Given the description of an element on the screen output the (x, y) to click on. 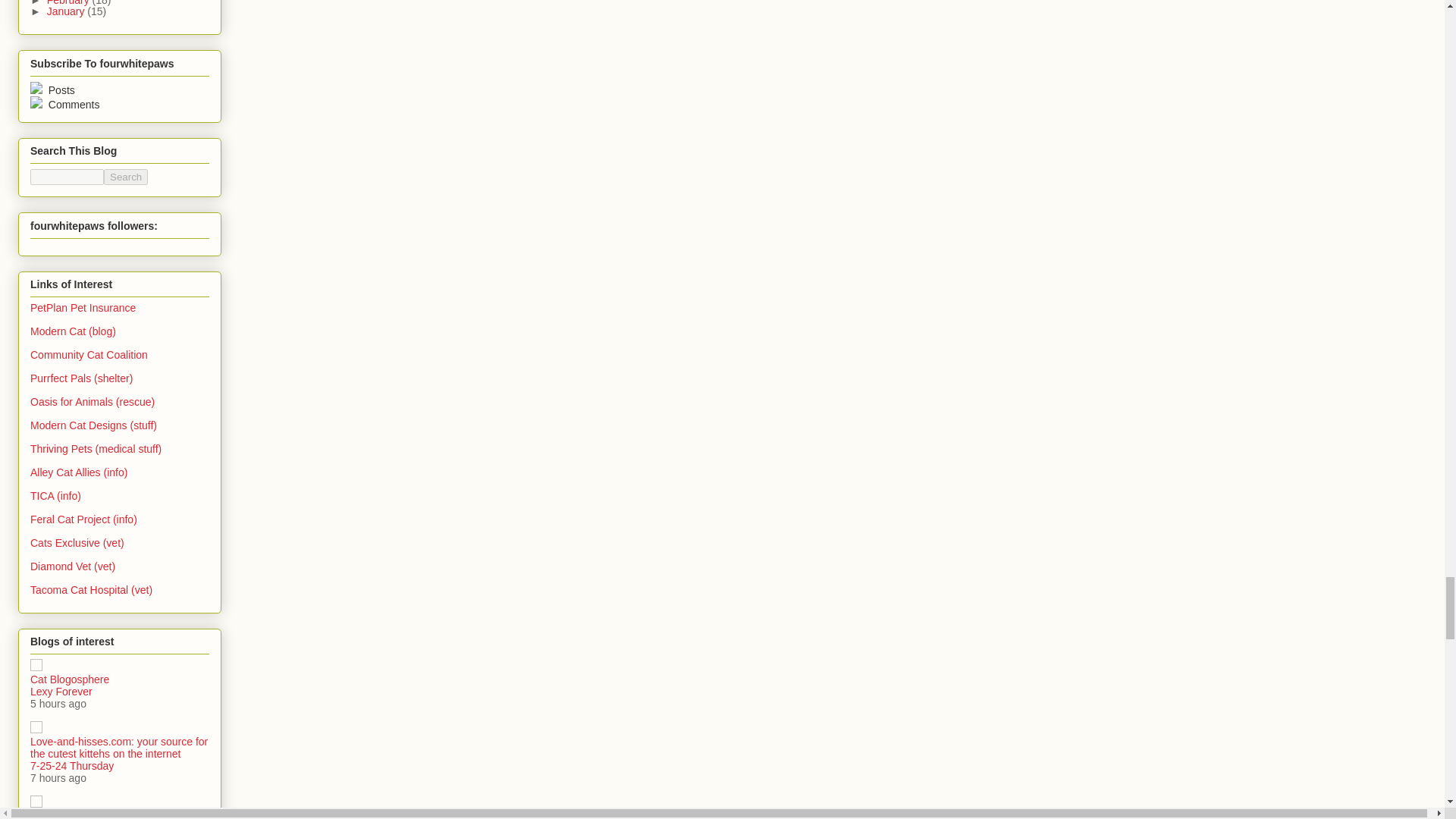
Search (125, 176)
search (66, 176)
Search (125, 176)
search (125, 176)
